Given the description of an element on the screen output the (x, y) to click on. 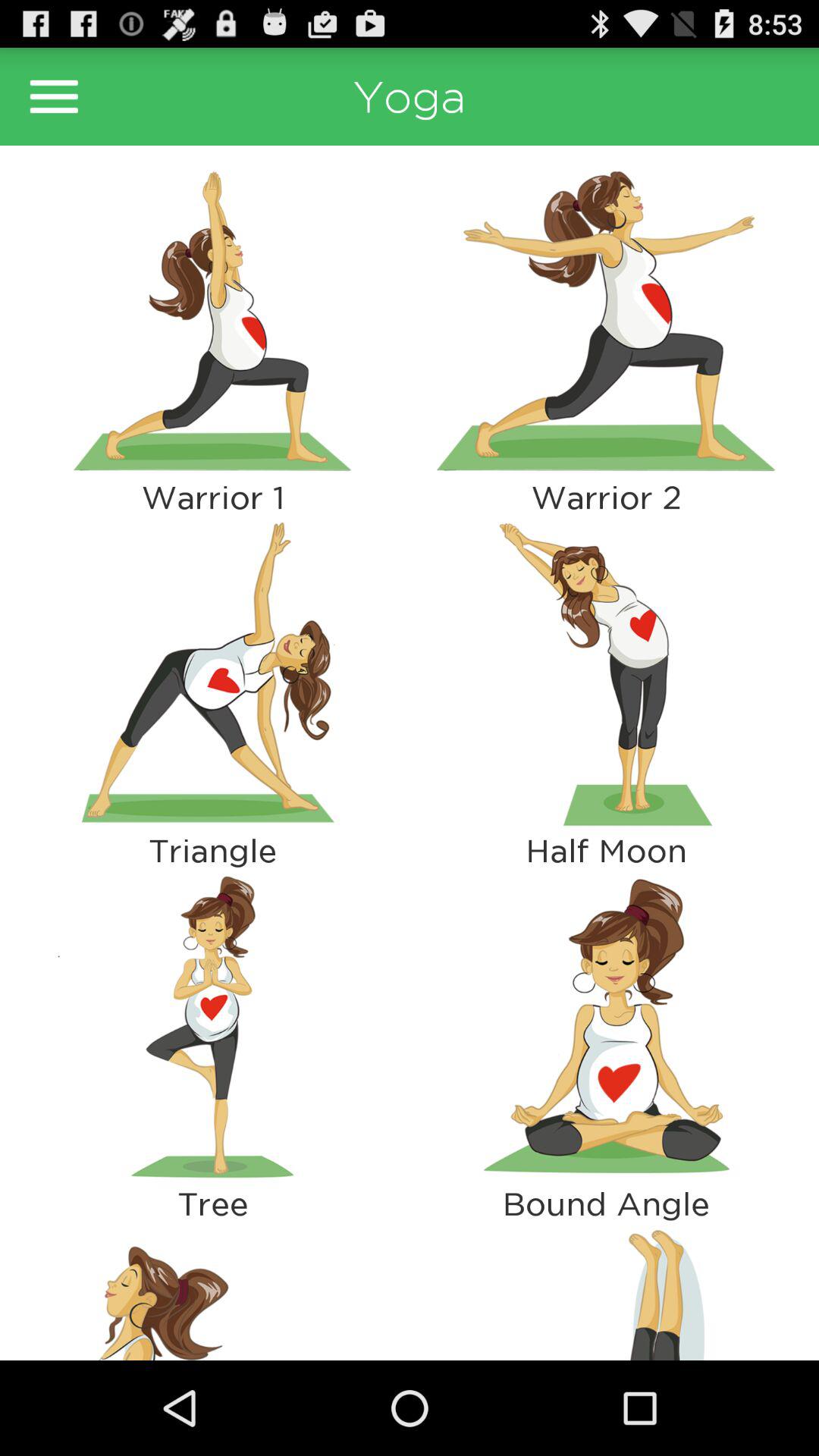
yoga training position selection button (212, 673)
